Given the description of an element on the screen output the (x, y) to click on. 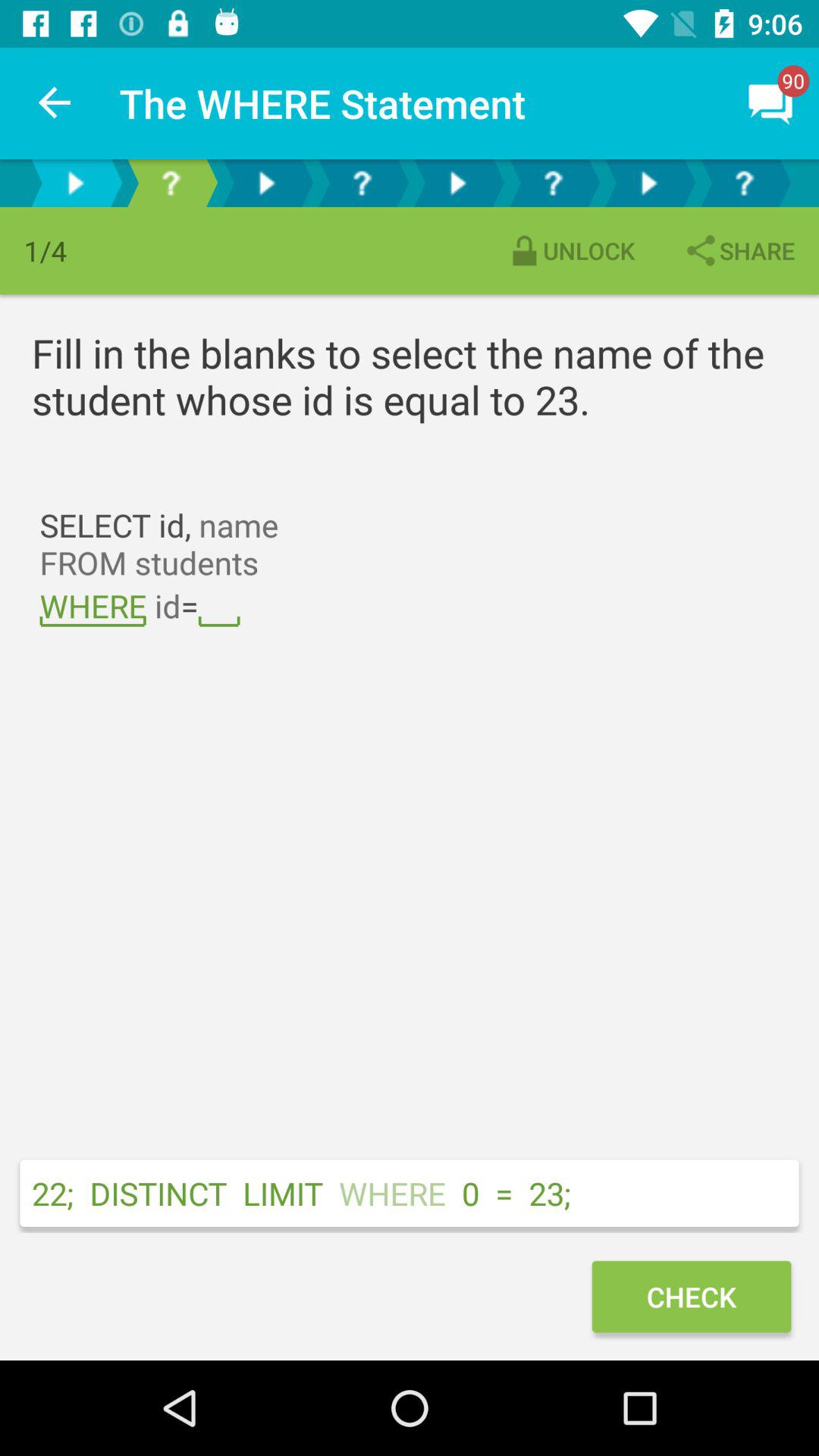
jumps to the next question (457, 183)
